Given the description of an element on the screen output the (x, y) to click on. 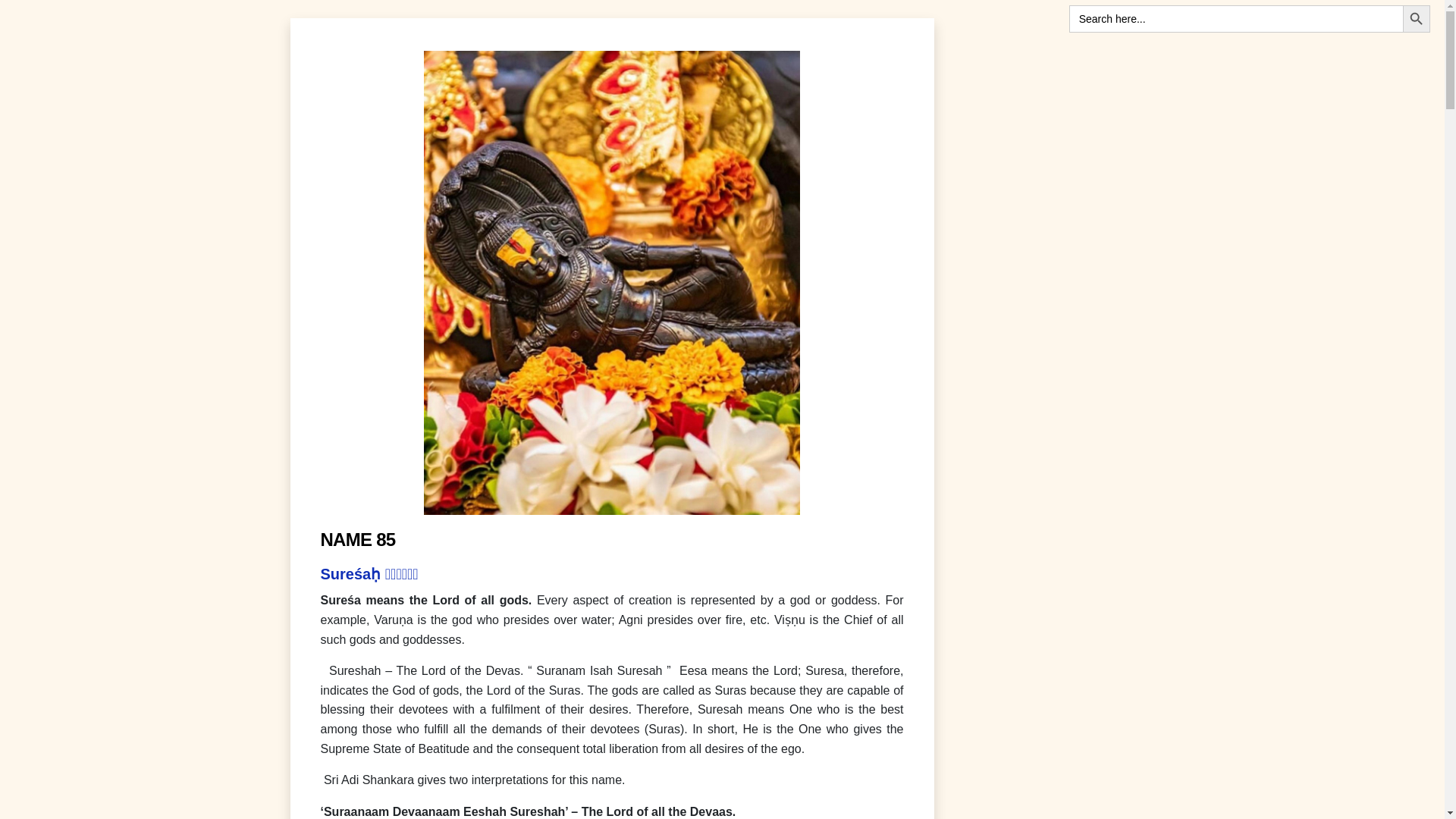
Search Button (1416, 18)
